Given the description of an element on the screen output the (x, y) to click on. 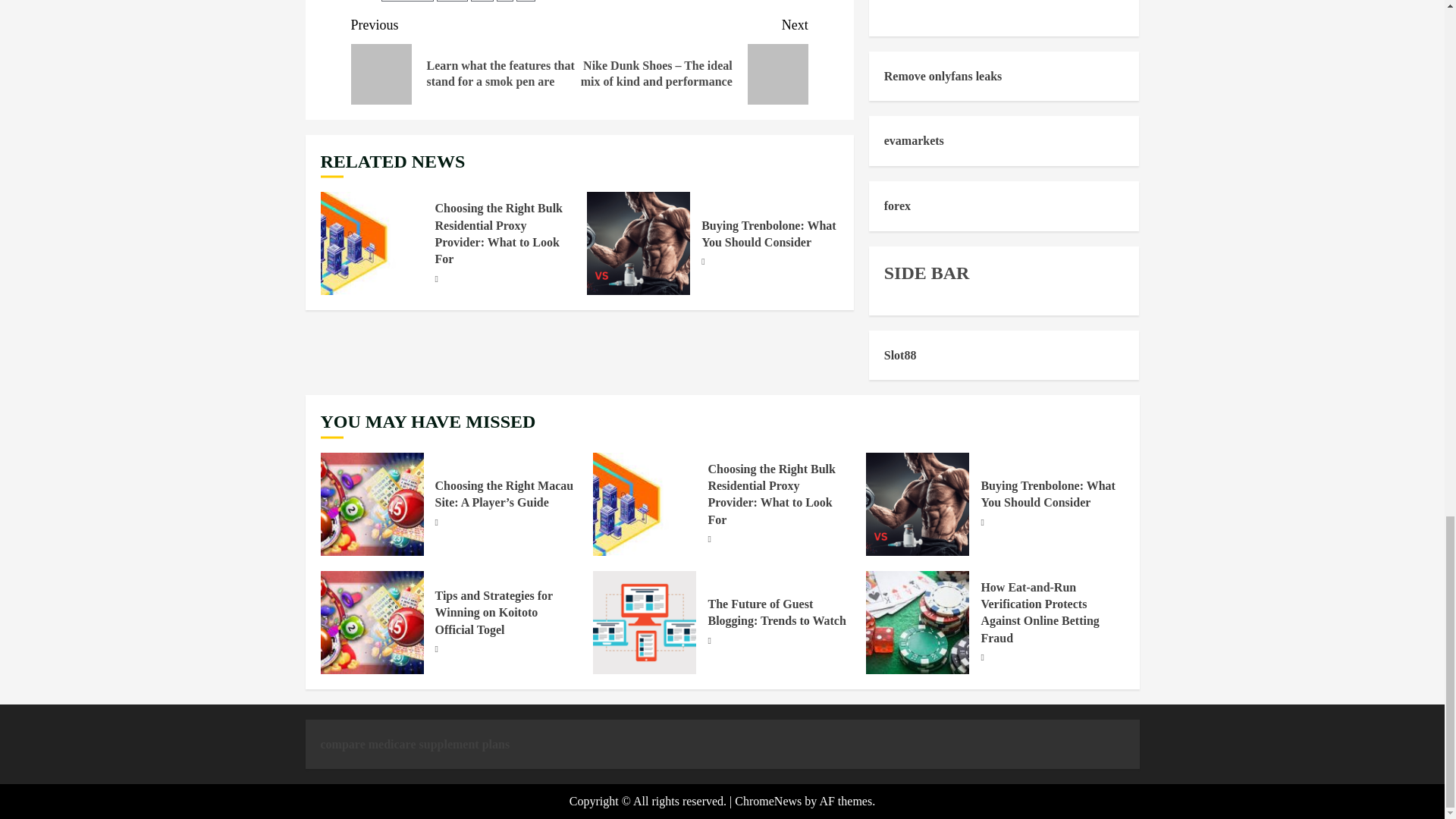
apartments (407, 0)
Buying Trenbolone: What You Should Consider (768, 234)
eau (481, 0)
claire (451, 0)
Buying Trenbolone: What You Should Consider (638, 242)
